Given the description of an element on the screen output the (x, y) to click on. 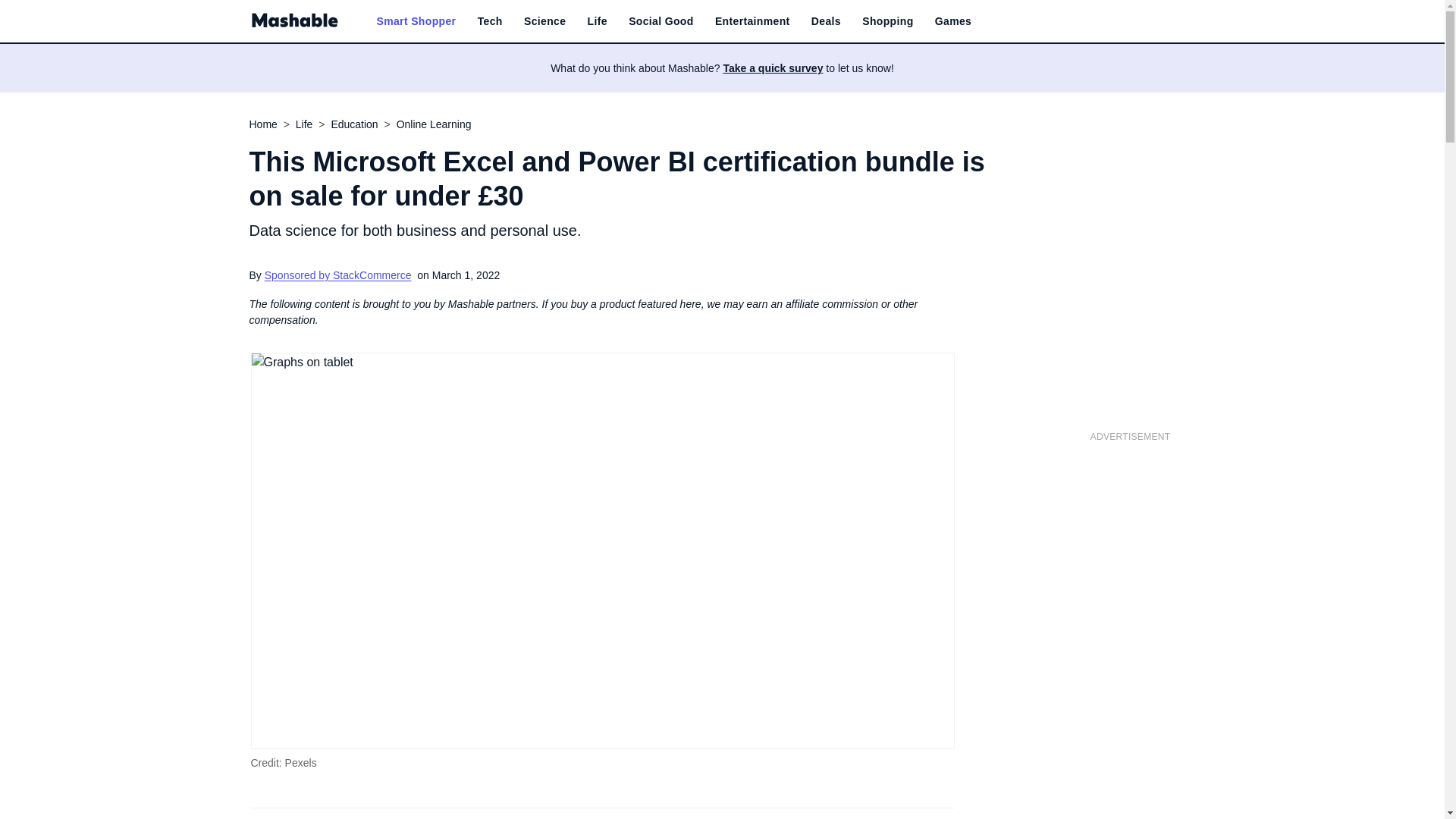
Shopping (886, 21)
Social Good (661, 21)
Science (545, 21)
Deals (825, 21)
Life (597, 21)
Smart Shopper (415, 21)
Games (952, 21)
Entertainment (752, 21)
Tech (489, 21)
